Given the description of an element on the screen output the (x, y) to click on. 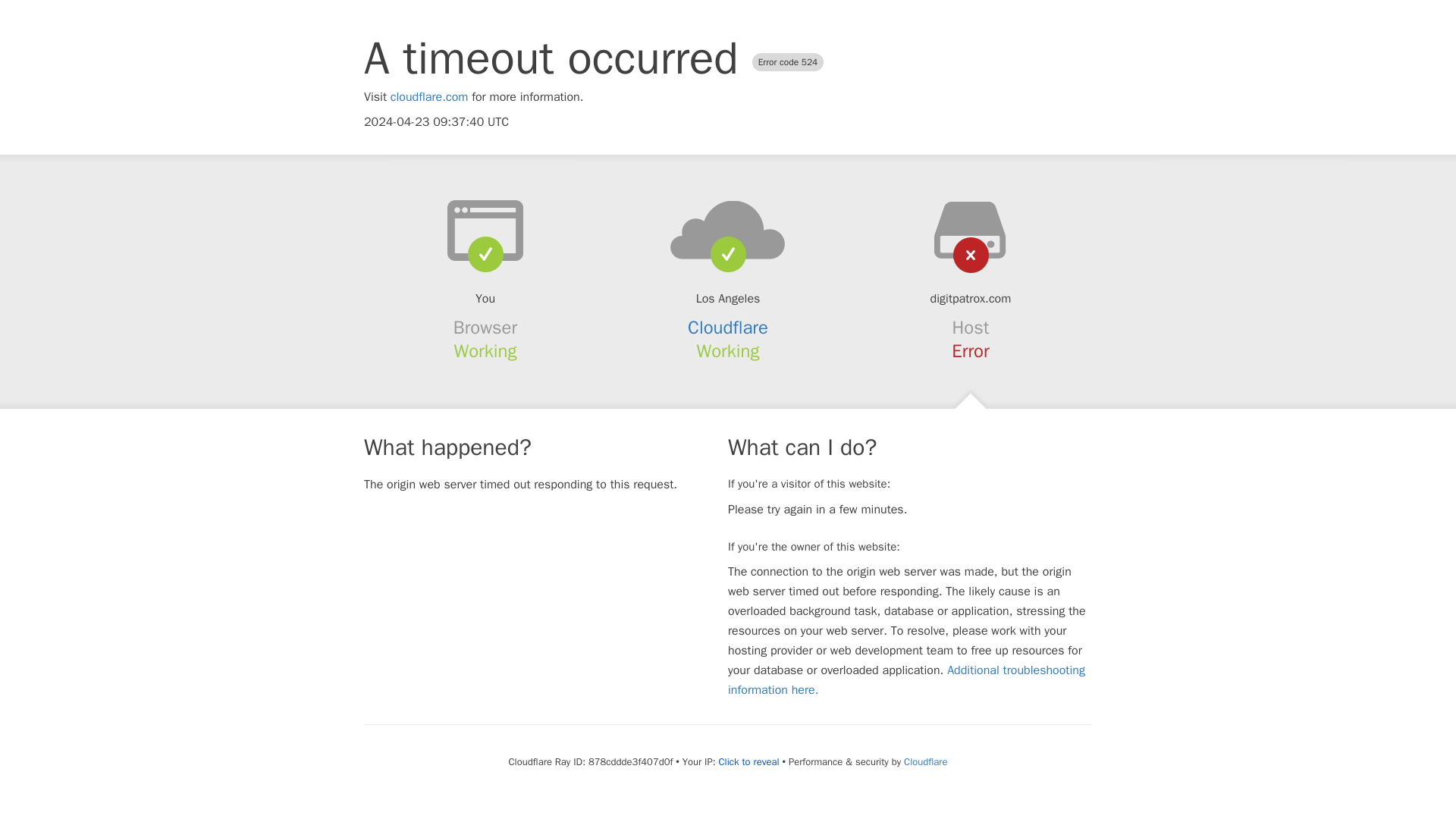
Cloudflare (925, 761)
Cloudflare (727, 327)
Click to reveal (748, 762)
Additional troubleshooting information here. (906, 679)
cloudflare.com (429, 96)
